Given the description of an element on the screen output the (x, y) to click on. 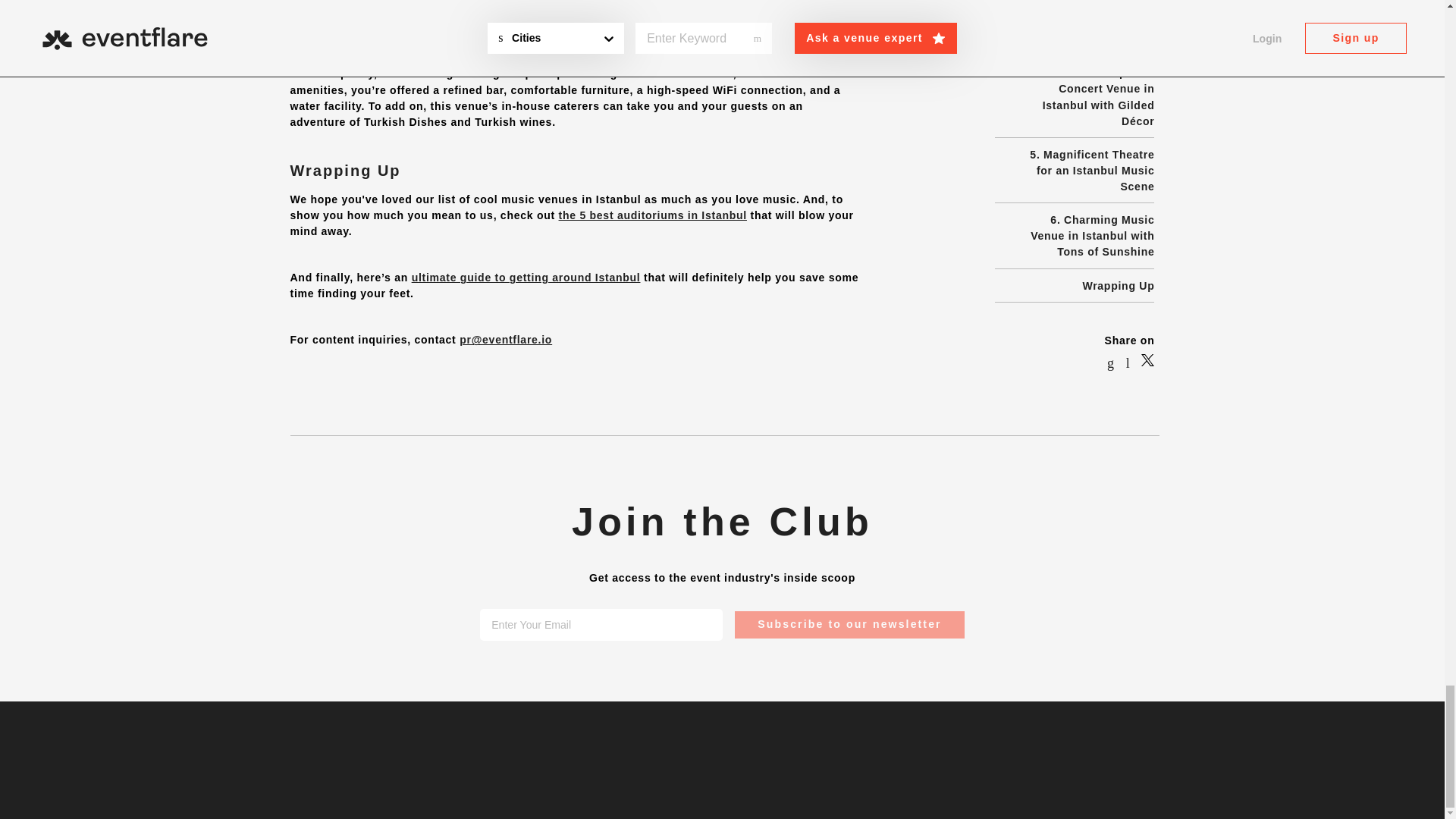
the 5 best auditoriums in Istanbul (652, 215)
ultimate guide to getting around Istanbul (526, 277)
Subscribe to our newsletter (849, 624)
Subscribe to our newsletter (849, 624)
